Given the description of an element on the screen output the (x, y) to click on. 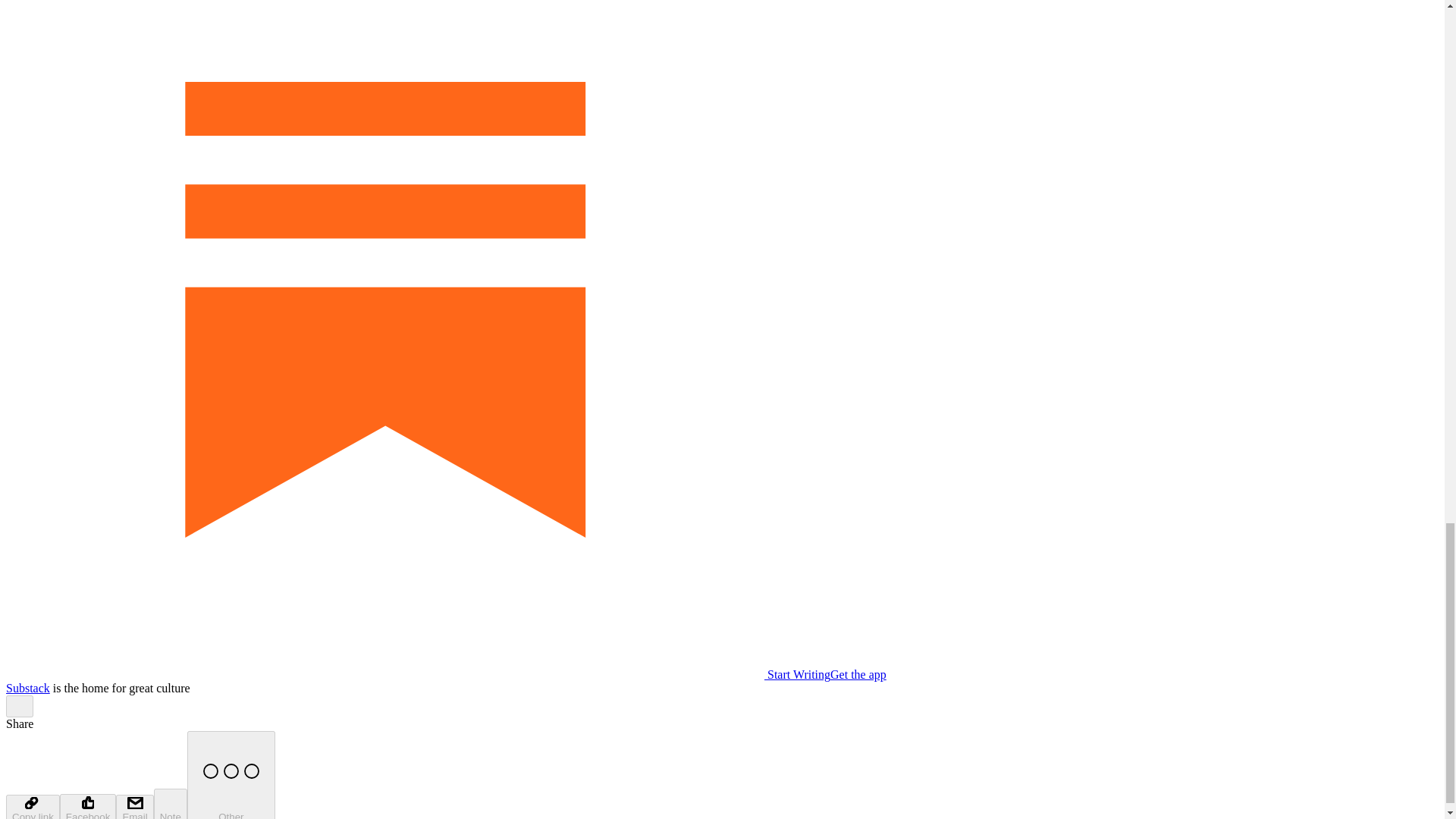
Start Writing (417, 674)
Substack (27, 687)
Get the app (857, 674)
